Given the description of an element on the screen output the (x, y) to click on. 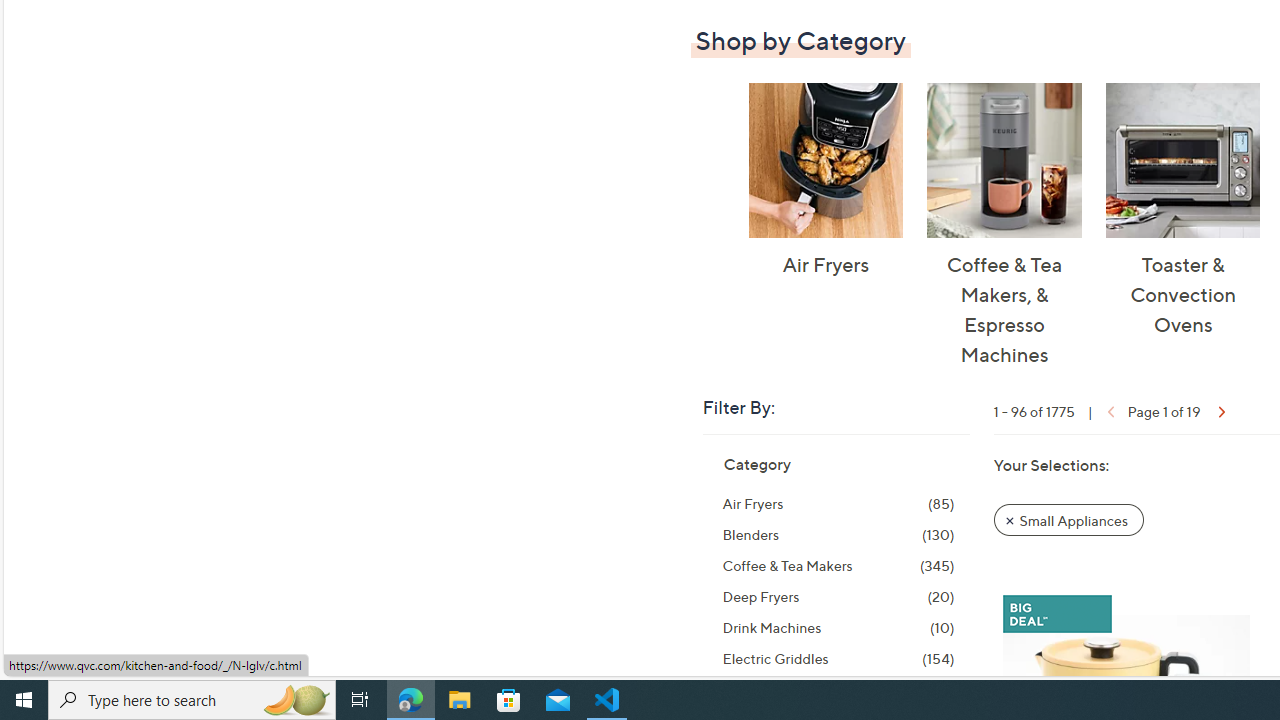
Category (756, 463)
Coffee & Tea Makers, 345 items (837, 565)
